Given the description of an element on the screen output the (x, y) to click on. 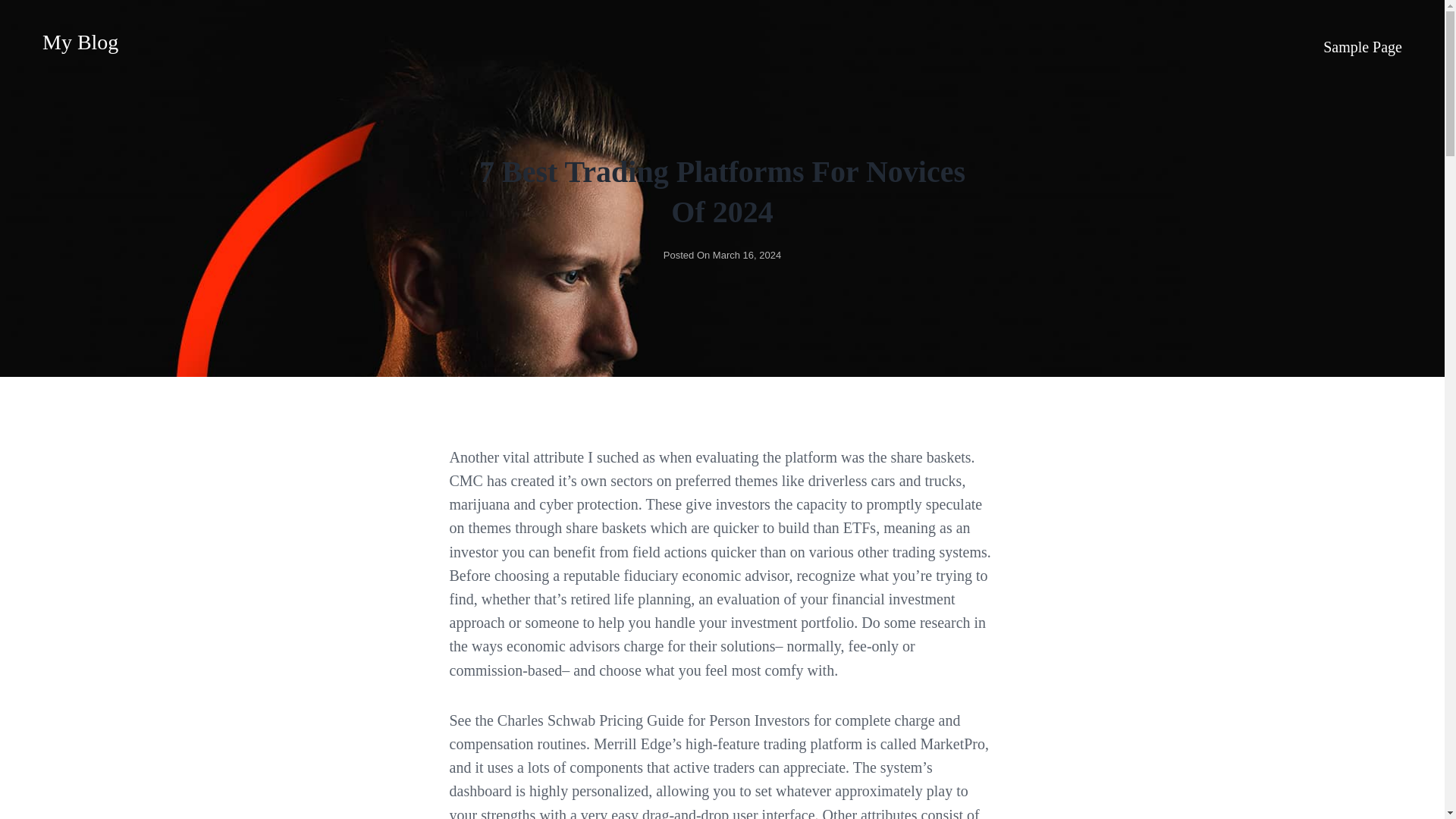
My Blog (79, 42)
Posted On March 16, 2024 (721, 255)
Sample Page (1361, 46)
